Given the description of an element on the screen output the (x, y) to click on. 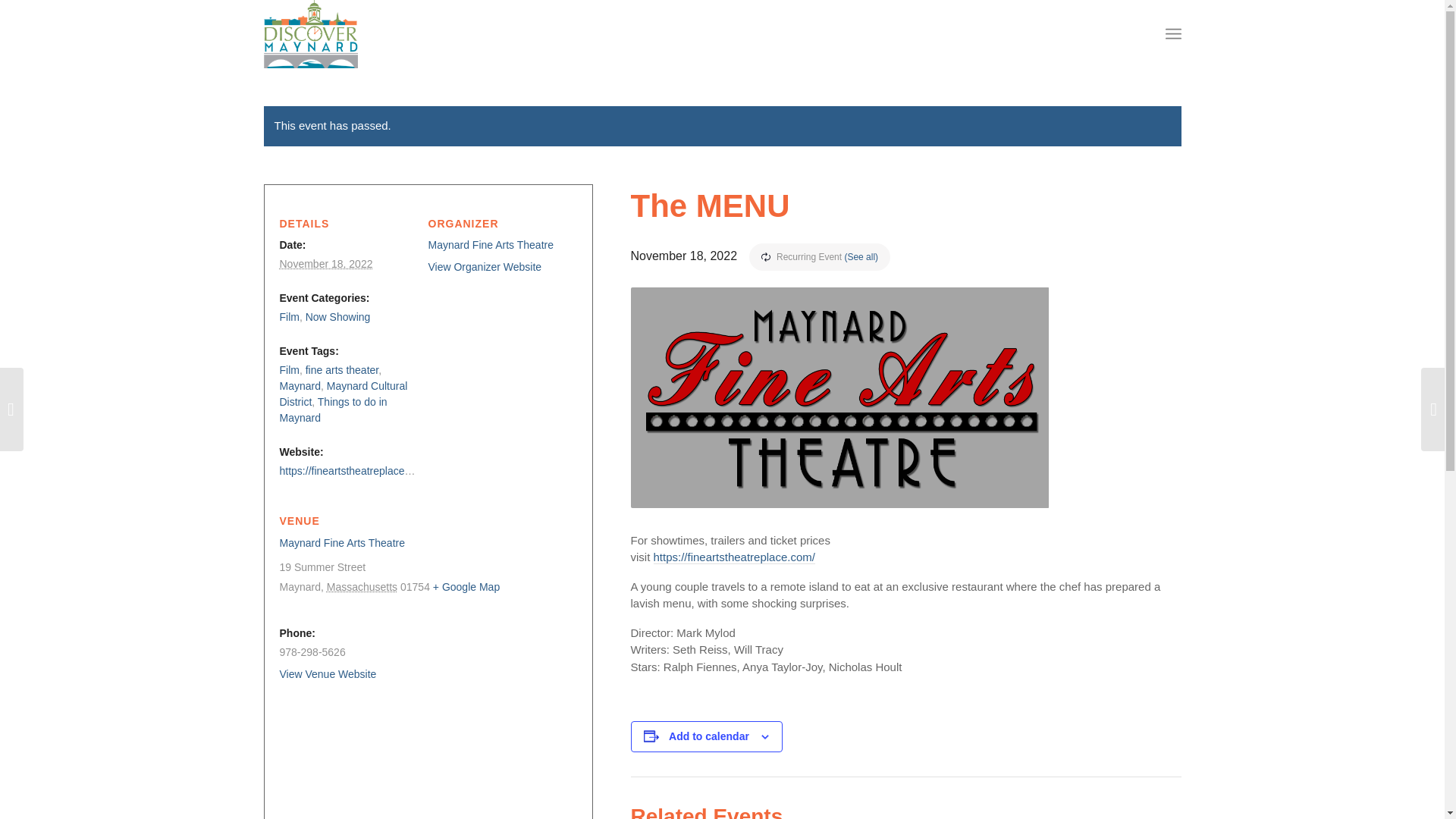
2022-11-18 (325, 263)
dm-logo-2022-enfold-1 (310, 33)
Click to view a Google Map (465, 586)
Massachusetts (361, 586)
Add to calendar (708, 736)
Maynard Fine Arts Theatre (490, 244)
